Given the description of an element on the screen output the (x, y) to click on. 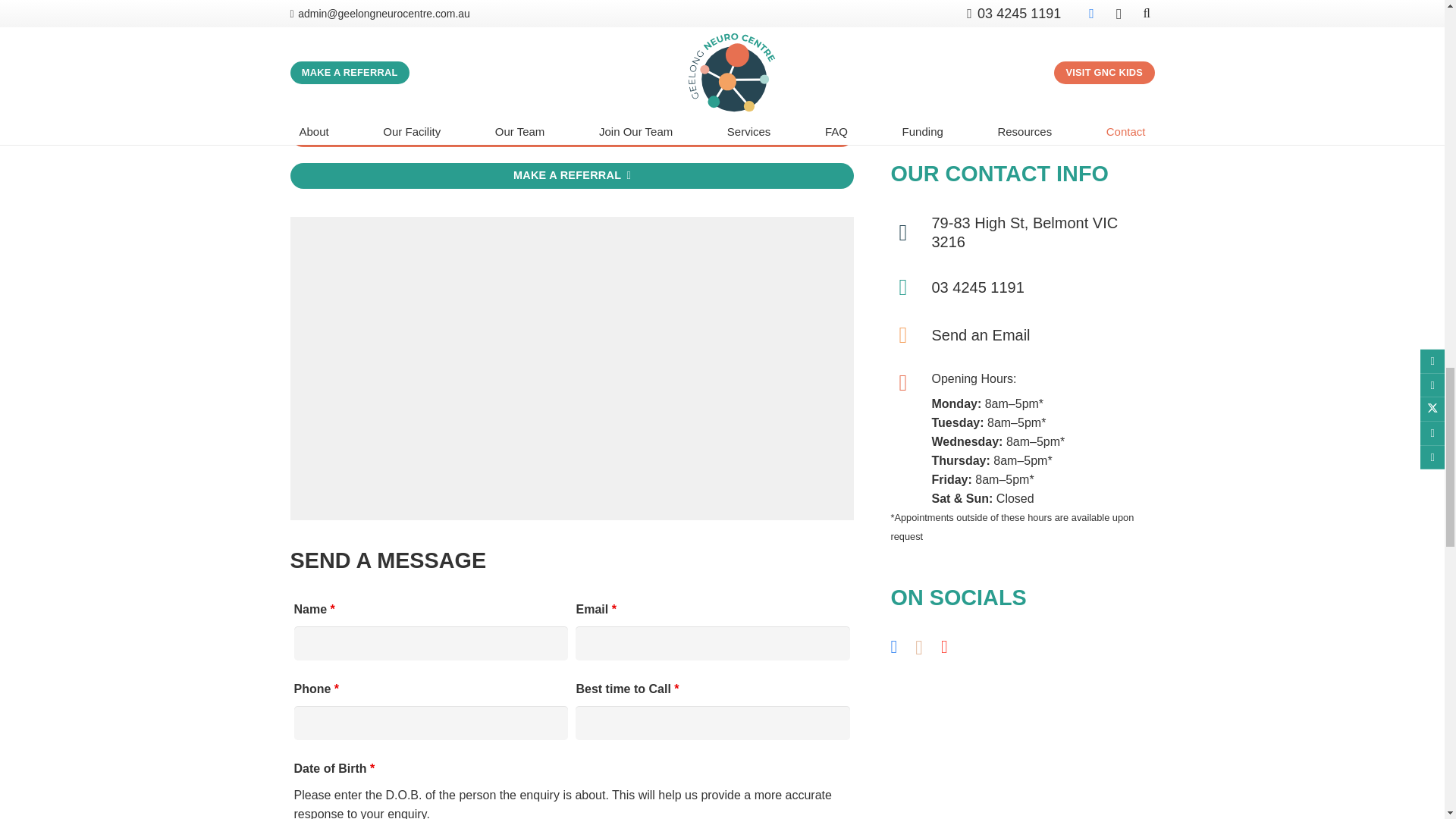
MAKE A REFERRAL (571, 175)
Make an Enquiry (571, 134)
Refer a Client (571, 175)
MAKE AN ENQUIRY (571, 134)
